Given the description of an element on the screen output the (x, y) to click on. 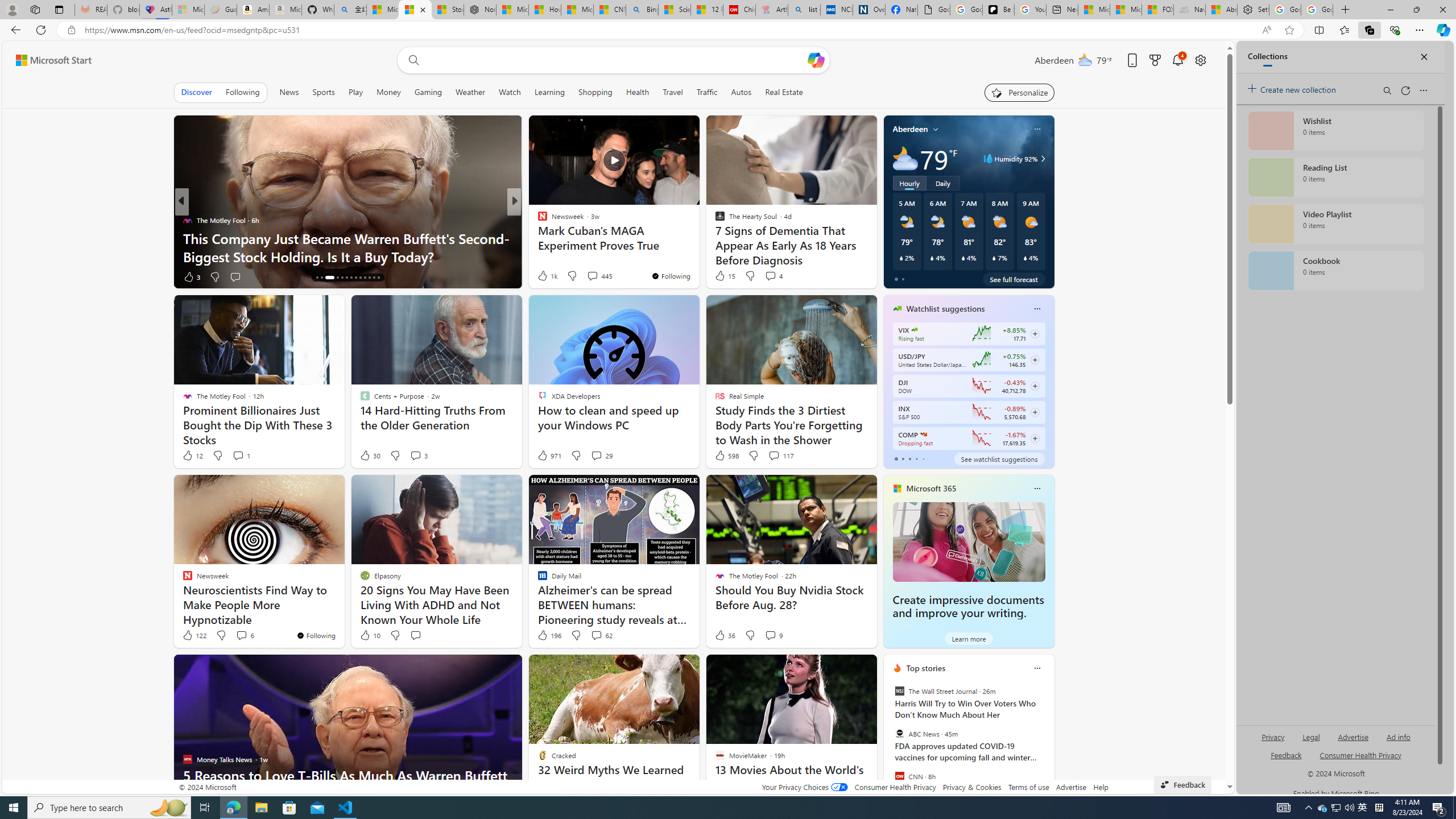
Real Estate (783, 92)
View comments 29 Comment (601, 455)
View comments 117 Comment (779, 455)
View comments 6 Comment (245, 634)
Aberdeen (910, 128)
Learning (549, 92)
Spotlight Feature (537, 219)
Mostly cloudy (904, 158)
Class: icon-img (1037, 668)
